Given the description of an element on the screen output the (x, y) to click on. 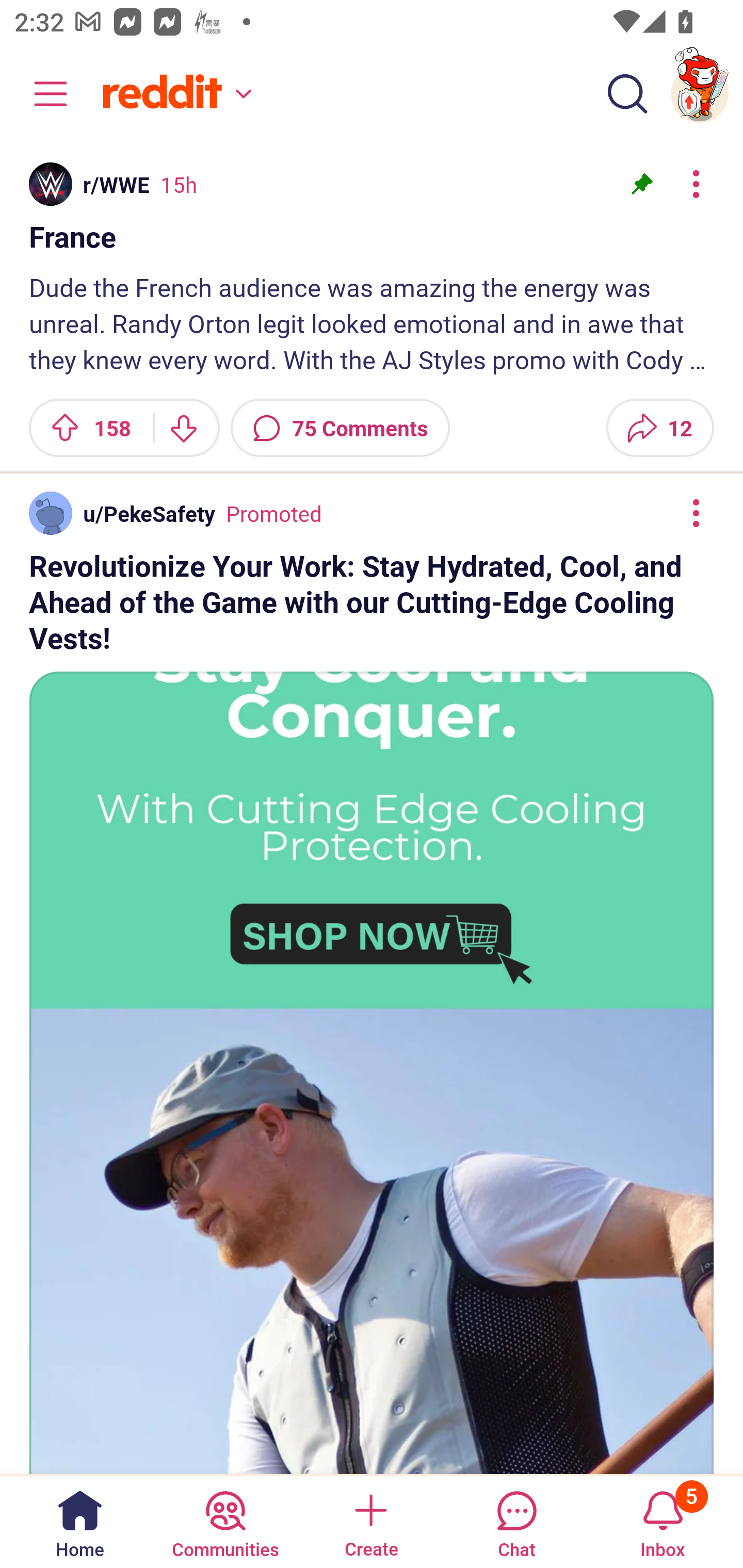
Search (626, 93)
TestAppium002 account (699, 93)
Community menu (41, 94)
Home feed (173, 94)
Home (80, 1520)
Communities (225, 1520)
Create a post Create (370, 1520)
Chat (516, 1520)
Inbox, has 5 notifications 5 Inbox (662, 1520)
